Given the description of an element on the screen output the (x, y) to click on. 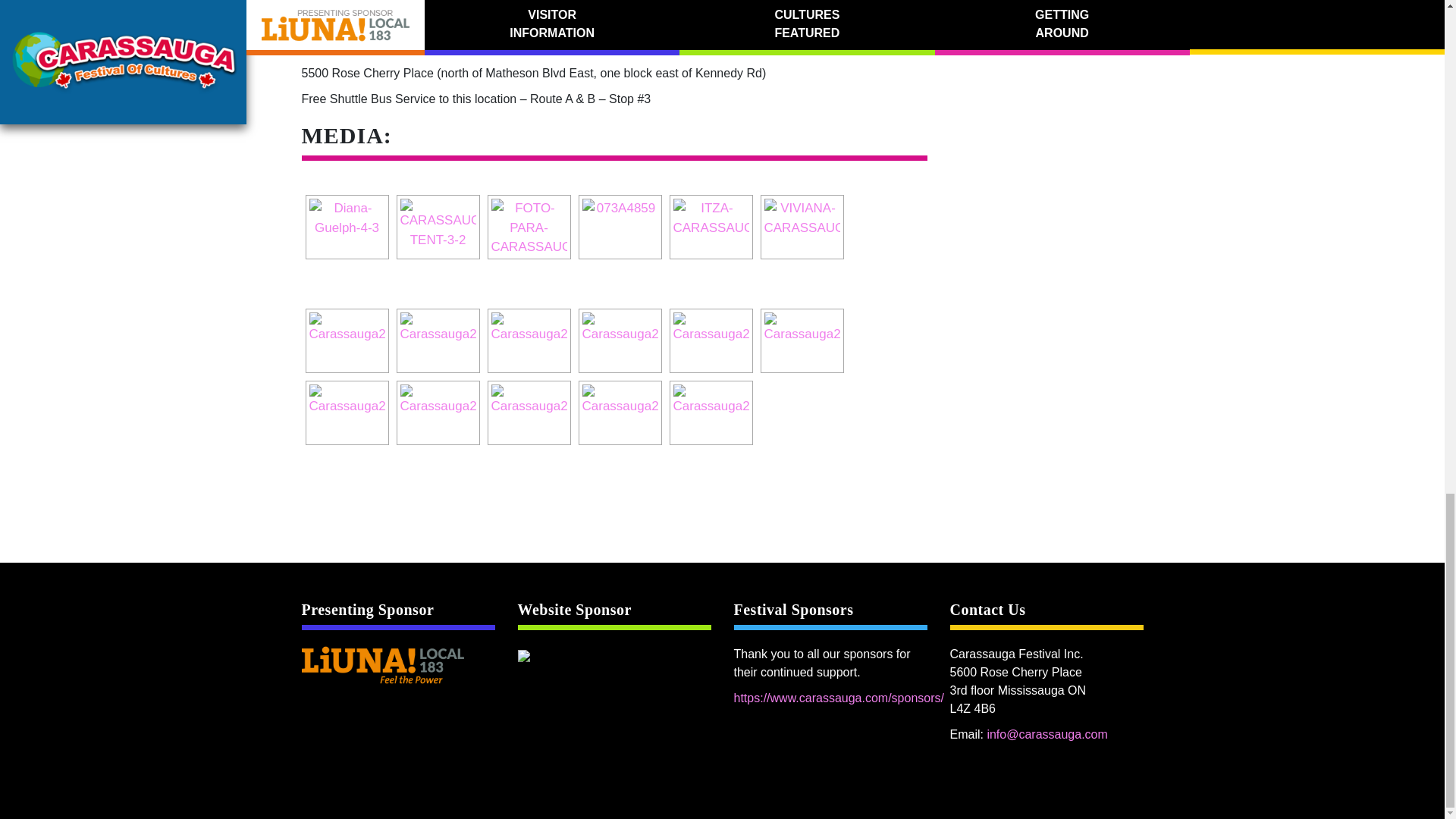
FOTO-PARA-CARASSAUGA-2024 (529, 227)
Carassauga2018728 (346, 340)
CARASSAUGA-TENT-3-2 (438, 227)
VIVIANA-CARASSAUGA (802, 227)
Diana-Guelph-4-3 (346, 227)
073A4859 (620, 227)
ITZA-CARASSAUGA (710, 227)
